Given the description of an element on the screen output the (x, y) to click on. 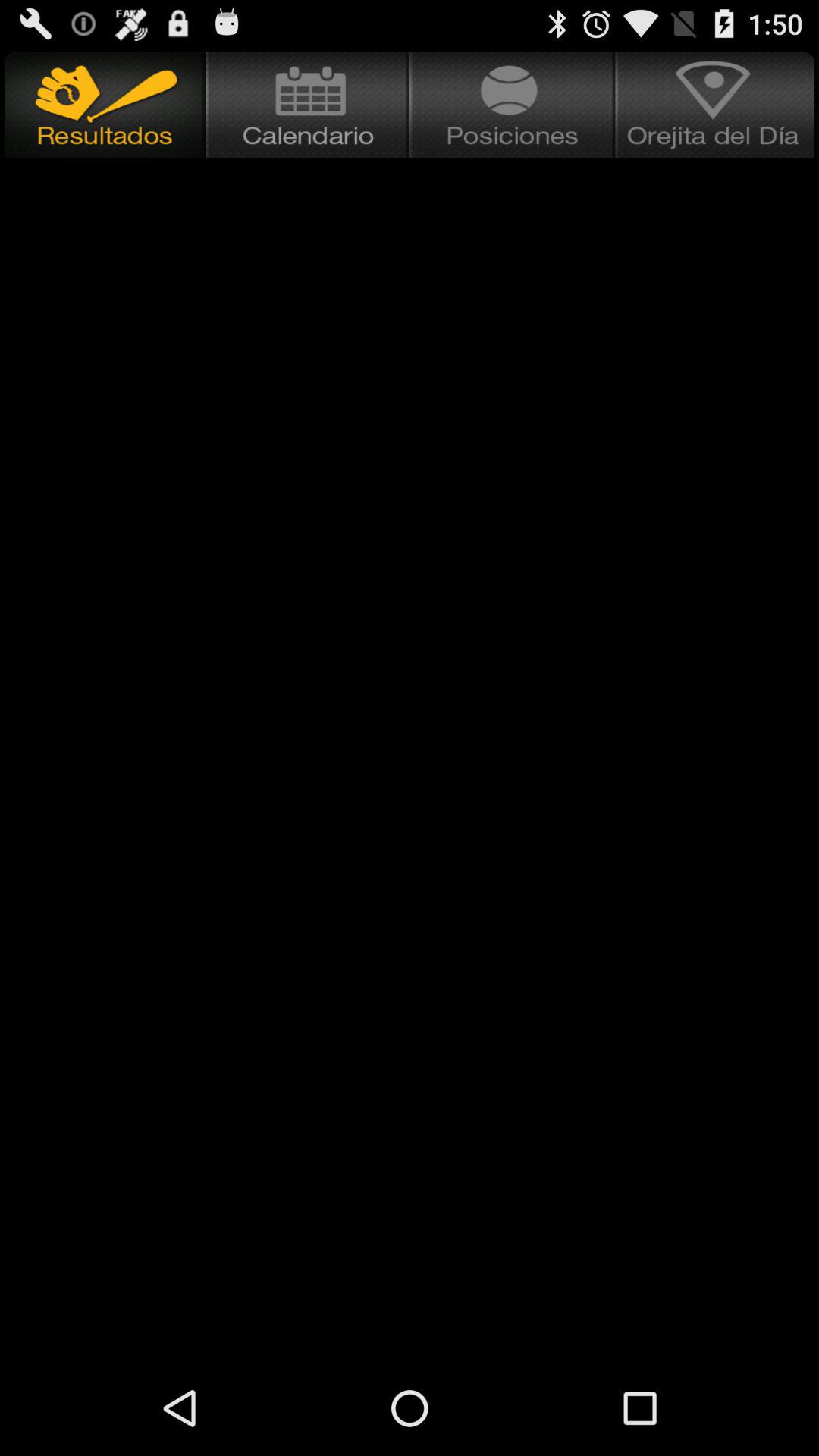
click the resultados button (102, 104)
